Given the description of an element on the screen output the (x, y) to click on. 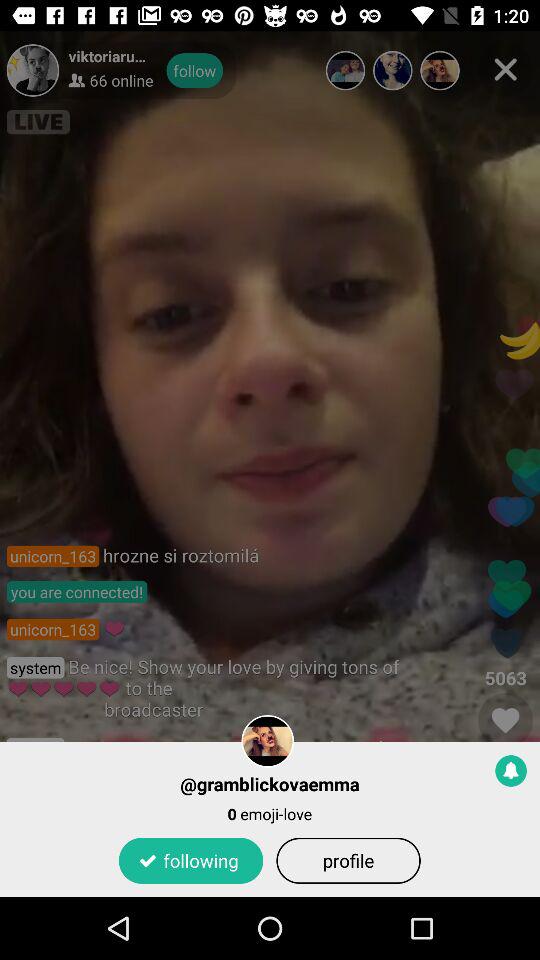
flip to the following app (190, 860)
